Given the description of an element on the screen output the (x, y) to click on. 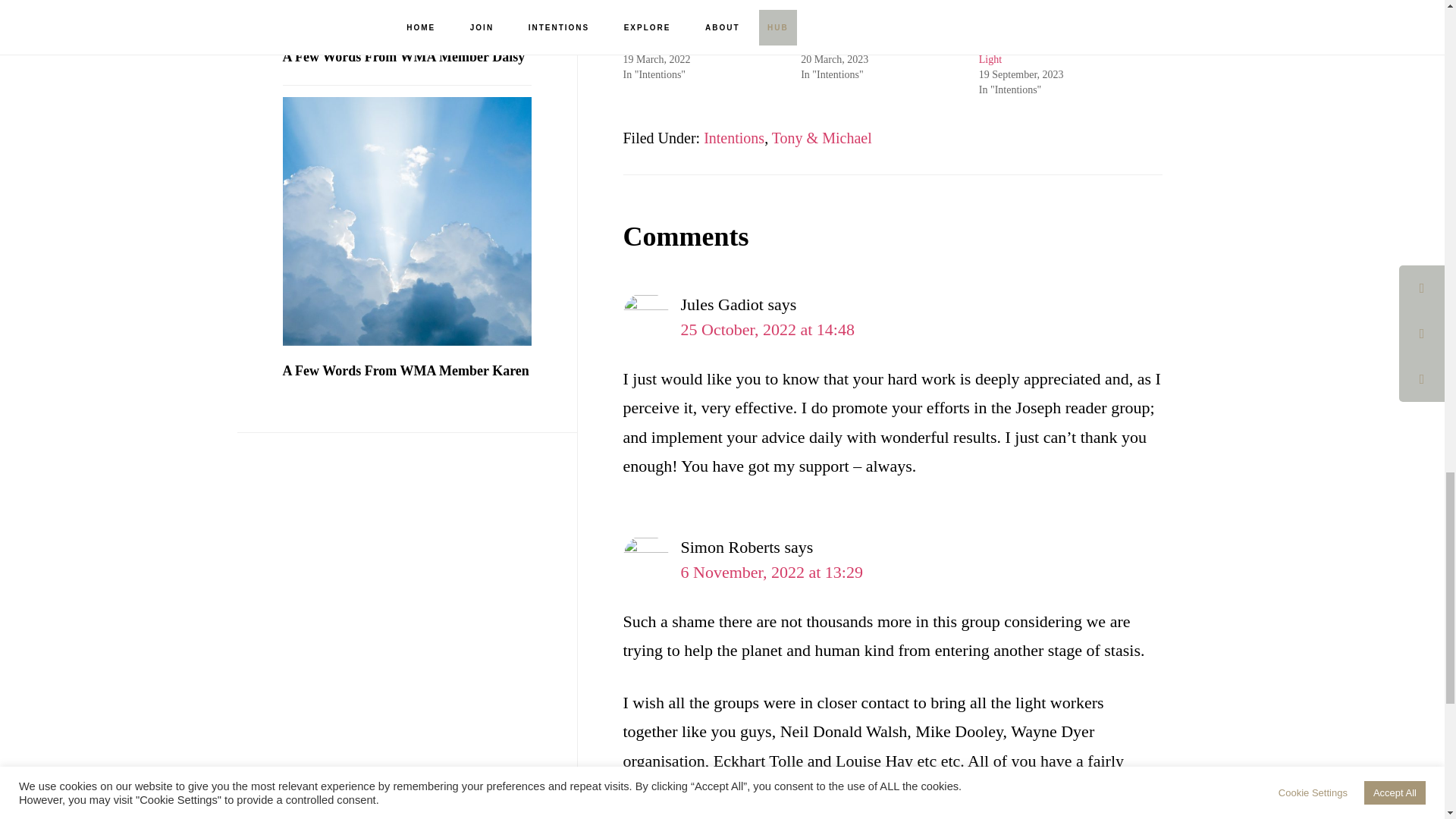
Angelic Intention: Let There Be Light (1046, 51)
6 November, 2022 at 13:29 (772, 571)
Angelic Intention: Remember (686, 43)
Angelic Intention: Purity (853, 43)
Angelic Intention: Remember (686, 43)
25 October, 2022 at 14:48 (767, 329)
Intentions (733, 137)
Angelic Intention: Purity (853, 43)
Angelic Intention: Let There Be Light (1046, 51)
